Given the description of an element on the screen output the (x, y) to click on. 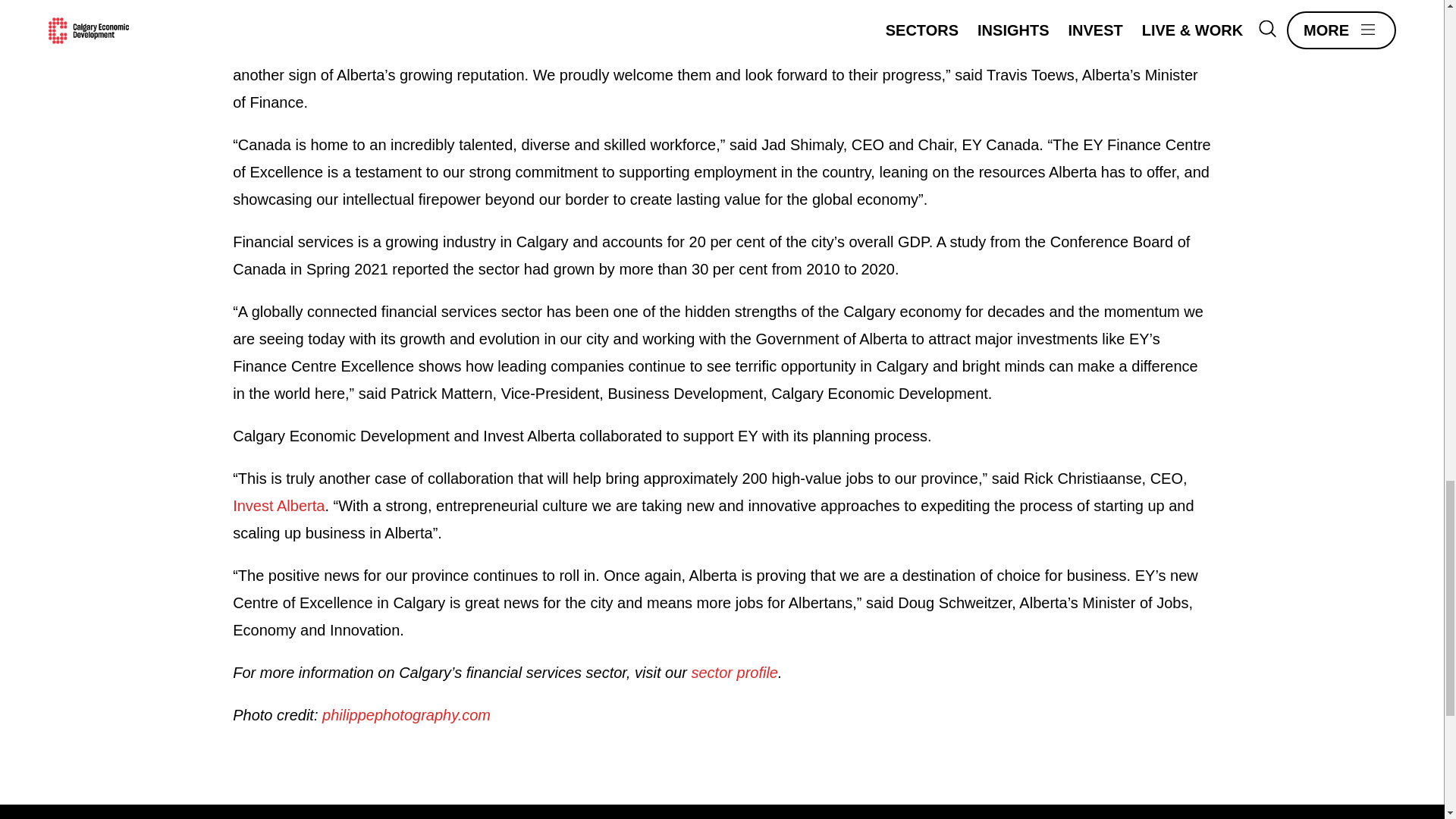
Financial Services Sector (734, 672)
Invest Alberta (278, 505)
